Given the description of an element on the screen output the (x, y) to click on. 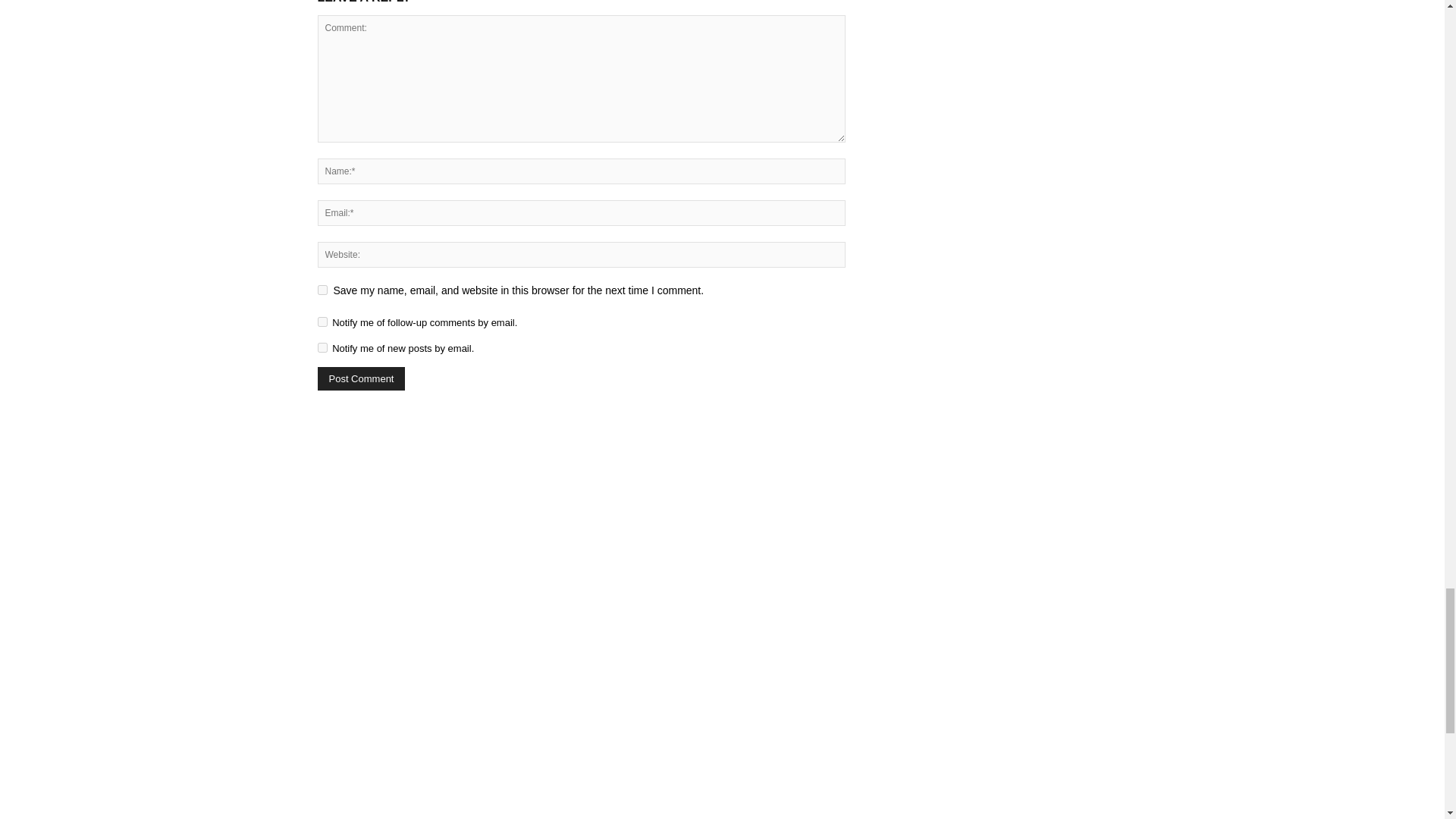
subscribe (321, 347)
Post Comment (360, 378)
yes (321, 289)
subscribe (321, 321)
